Given the description of an element on the screen output the (x, y) to click on. 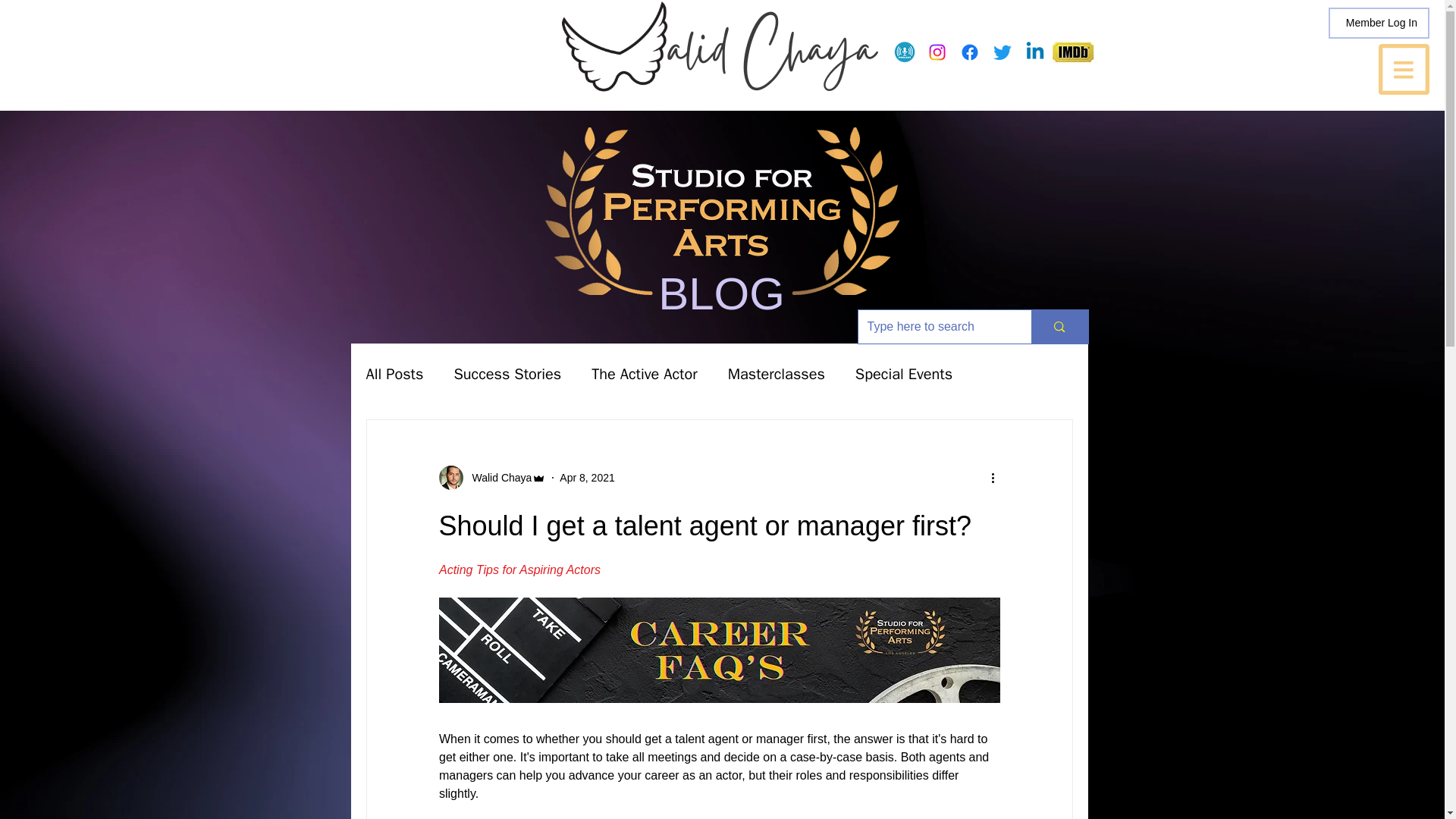
Masterclasses (776, 373)
Member Log In (1381, 23)
Special Events (904, 373)
The Active Actor (644, 373)
Walid Chaya (492, 477)
Success Stories (506, 373)
Apr 8, 2021 (586, 477)
All Posts (394, 373)
Walid Chaya (497, 478)
